Given the description of an element on the screen output the (x, y) to click on. 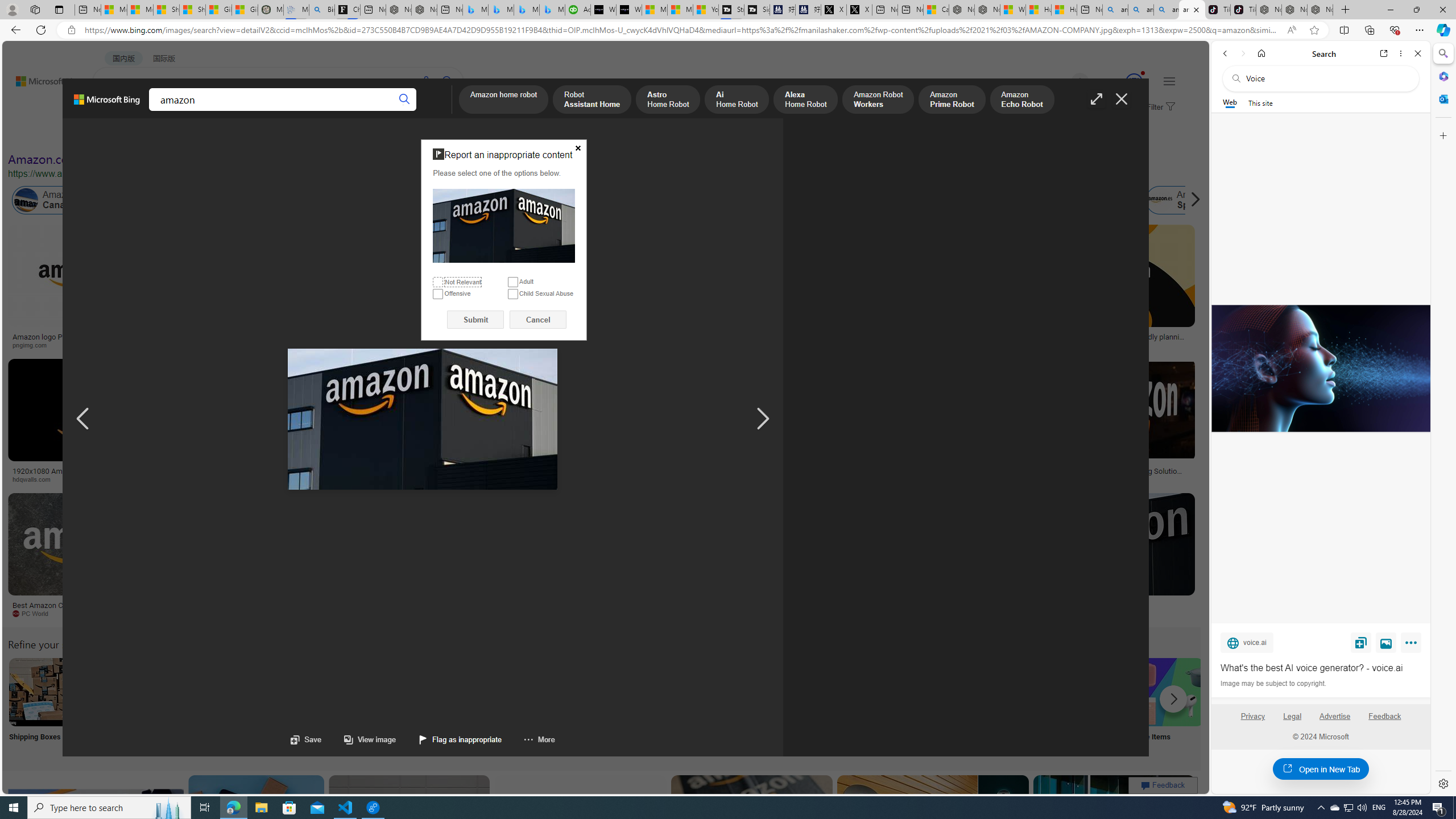
Eugene (1063, 81)
The Verge (190, 612)
Best Amazon Cyber Monday deals 2019 | PCWorld (82, 608)
Amazon Online Shopping Search (118, 691)
hdqwalls.com (96, 479)
How Much Is Amazon's Net Worth? | GOBankingRates (275, 474)
manilashaker.com (722, 613)
Image size (126, 135)
Amazon Robot Workers (878, 100)
Cancel (537, 319)
Amazon Visa Card Login Visa Card Login (1093, 706)
VIDEOS (260, 111)
